Given the description of an element on the screen output the (x, y) to click on. 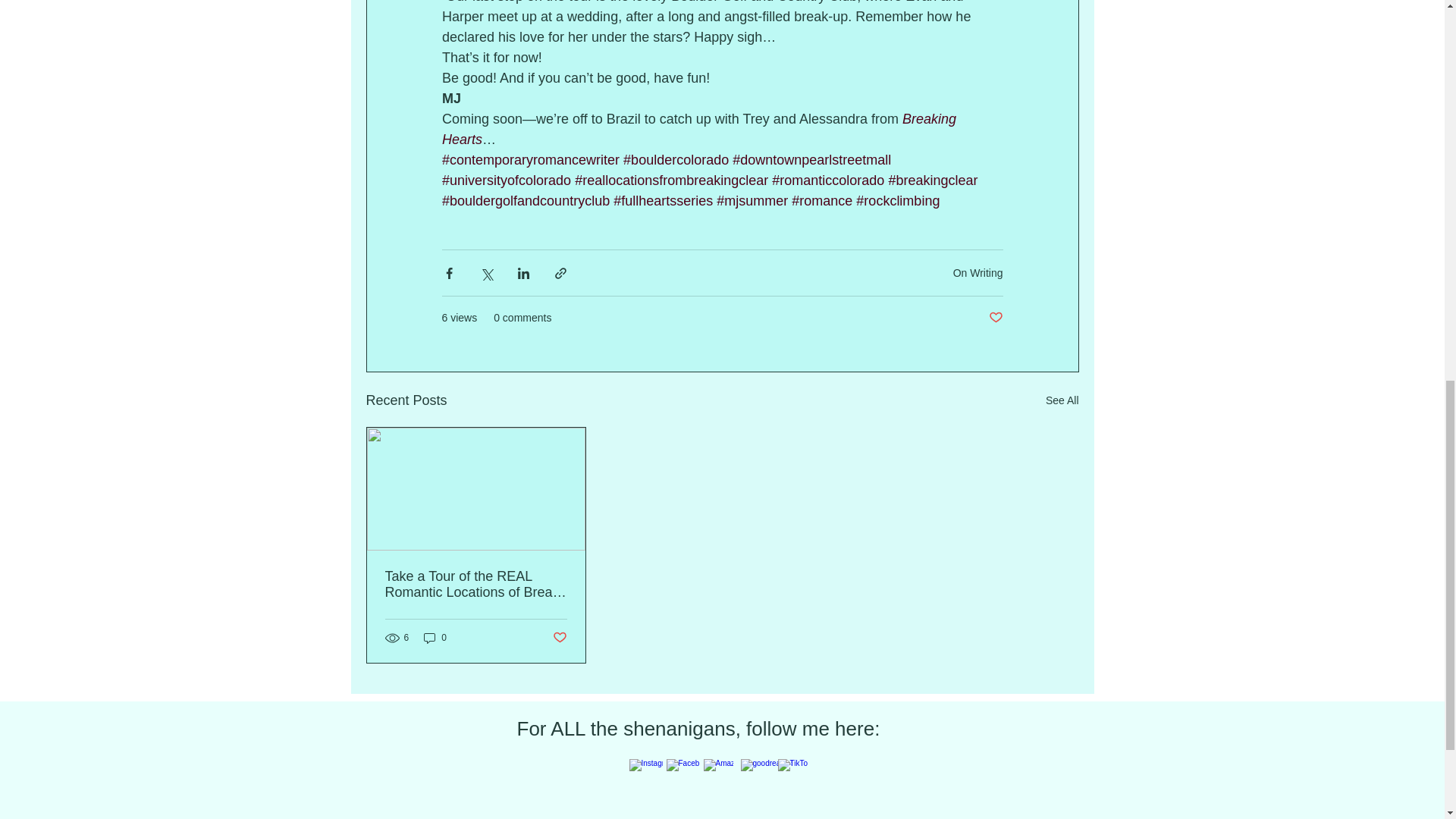
See All (1061, 400)
0 (435, 637)
Breaking Hearts (700, 129)
Post not marked as liked (995, 317)
On Writing (978, 272)
Post not marked as liked (558, 637)
Take a Tour of the REAL Romantic Locations of Break in Two (476, 584)
